Given the description of an element on the screen output the (x, y) to click on. 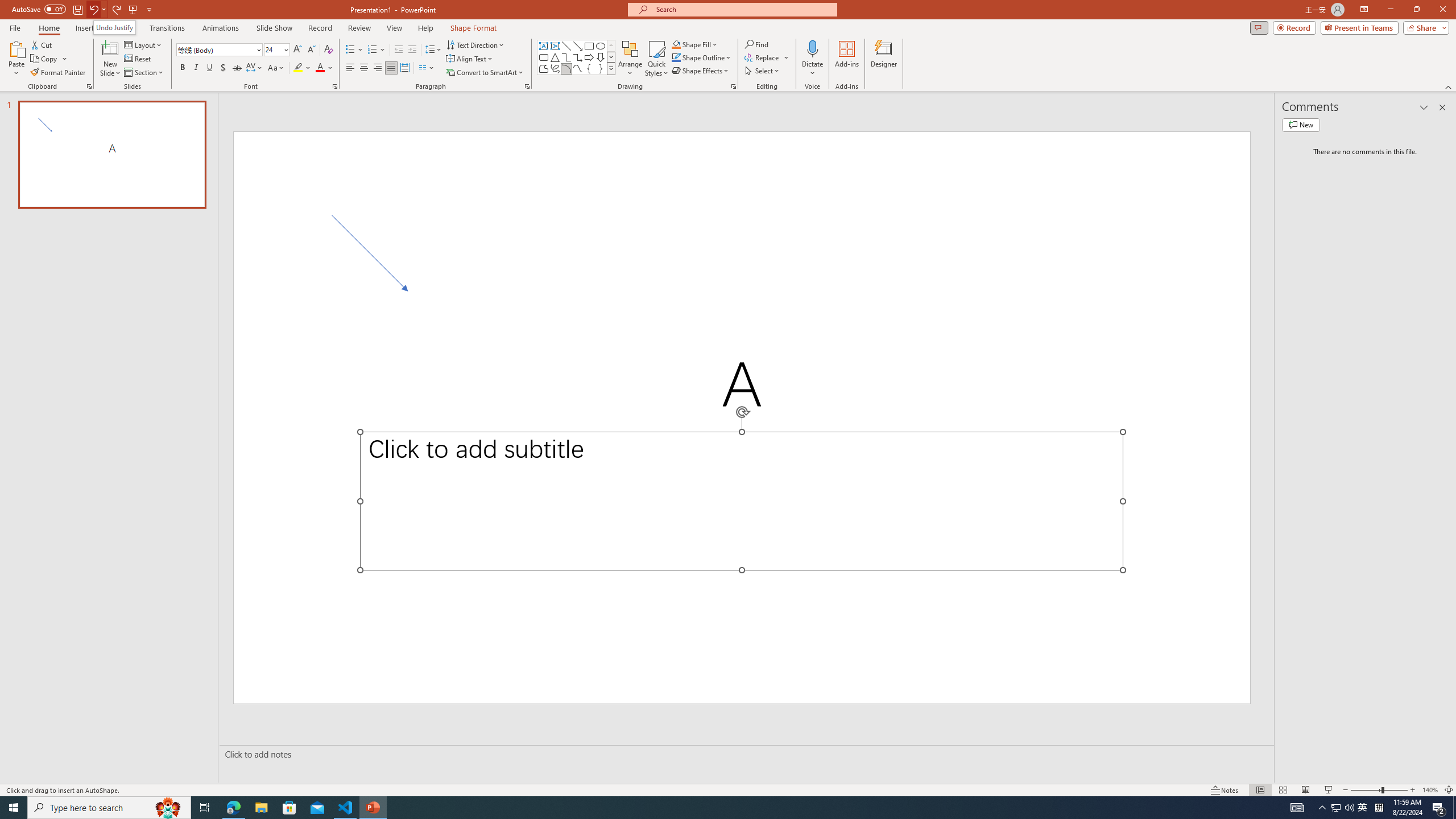
Undo Justify (114, 27)
Zoom 140% (1430, 790)
